Given the description of an element on the screen output the (x, y) to click on. 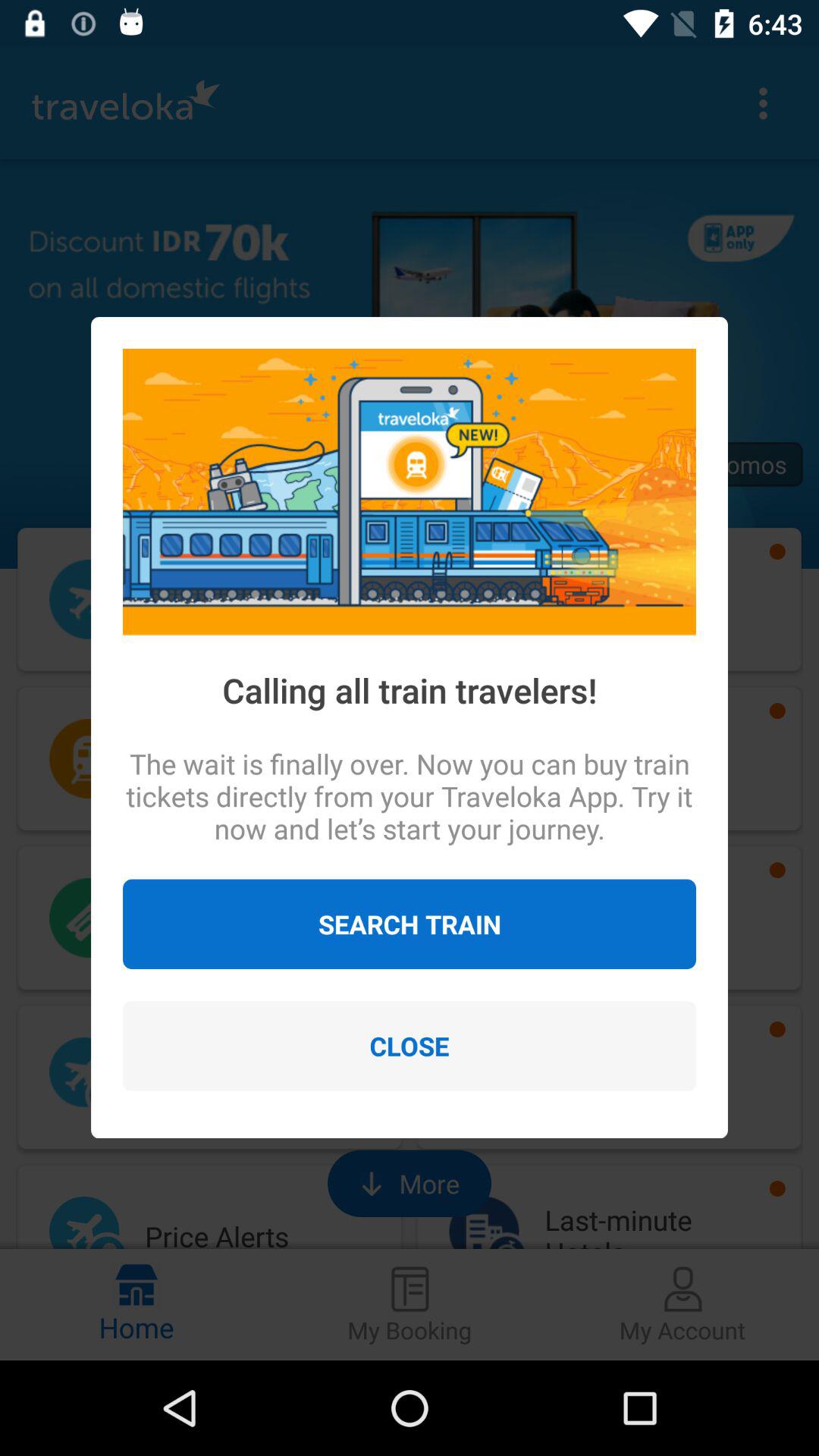
choose icon above close item (409, 924)
